Given the description of an element on the screen output the (x, y) to click on. 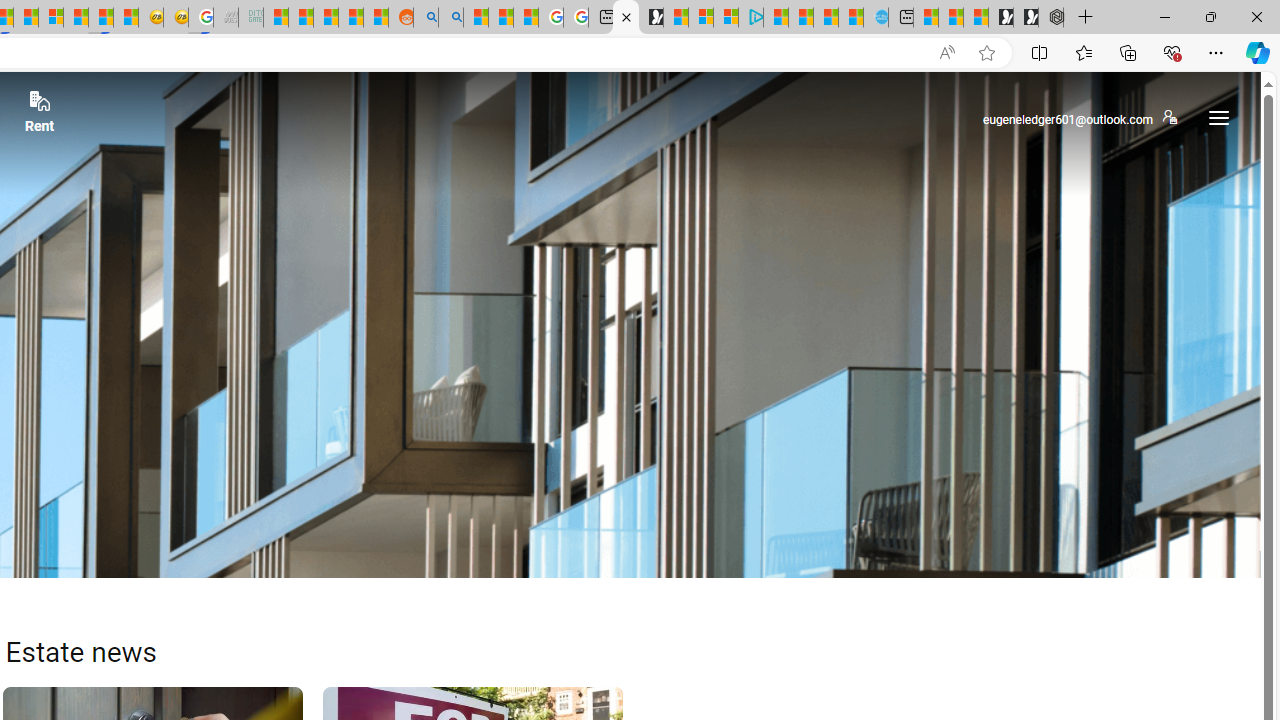
14 Common Myths Debunked By Scientific Facts (26, 17)
DITOGAMES AG Imprint - Sleeping (250, 17)
Bing Real Estate - Home sales and rental listings (625, 17)
